Given the description of an element on the screen output the (x, y) to click on. 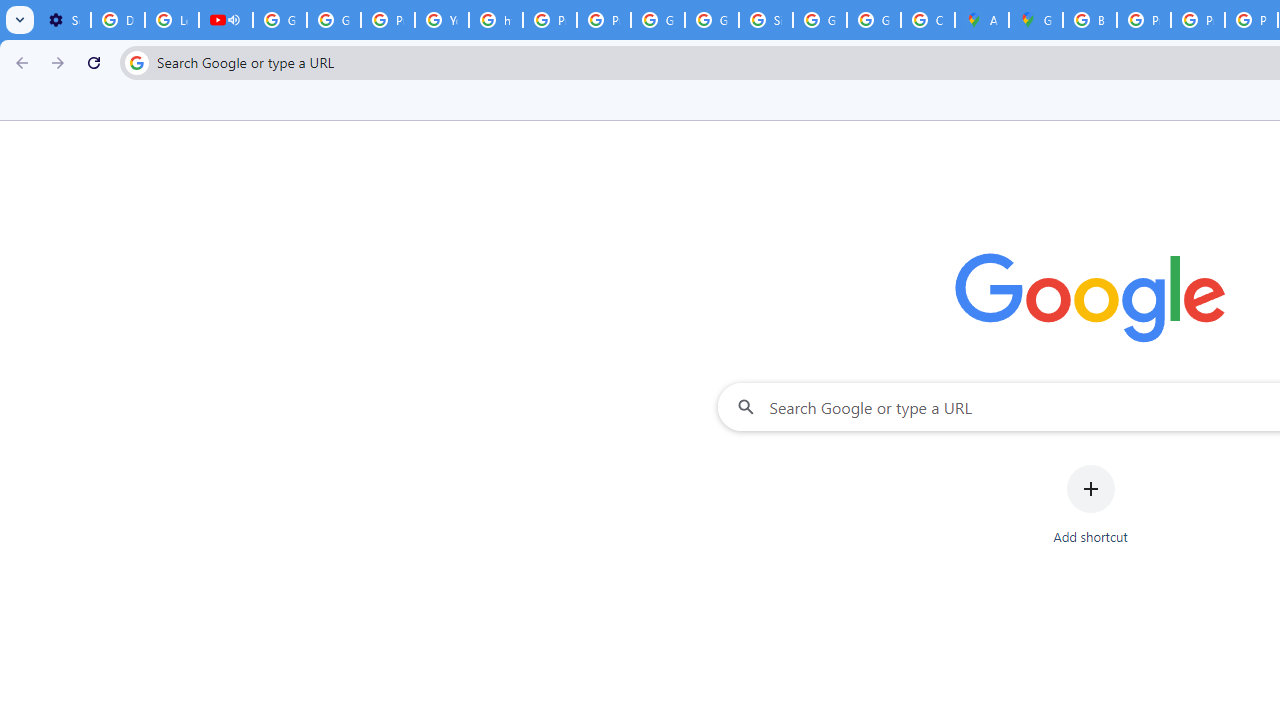
Google Account Help (333, 20)
Learn how to find your photos - Google Photos Help (171, 20)
Google Maps (1035, 20)
Sign in - Google Accounts (765, 20)
Privacy Help Center - Policies Help (1144, 20)
Settings - Customize profile (63, 20)
Create your Google Account (927, 20)
Google Account Help (280, 20)
Privacy Help Center - Policies Help (550, 20)
